Given the description of an element on the screen output the (x, y) to click on. 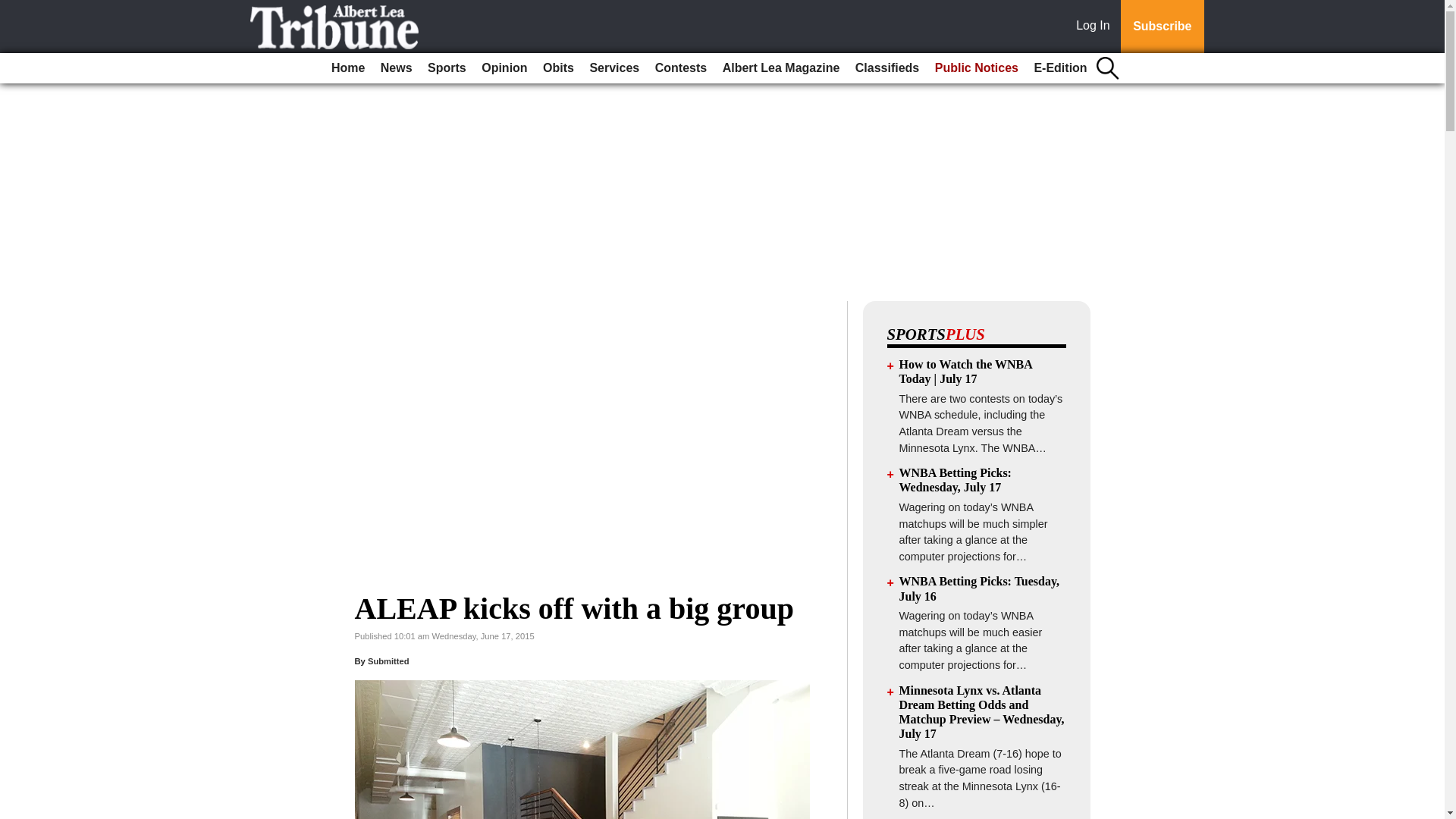
Home (347, 68)
Opinion (504, 68)
News (396, 68)
Obits (558, 68)
Log In (1095, 26)
Services (614, 68)
Sports (446, 68)
Subscribe (1162, 26)
